Given the description of an element on the screen output the (x, y) to click on. 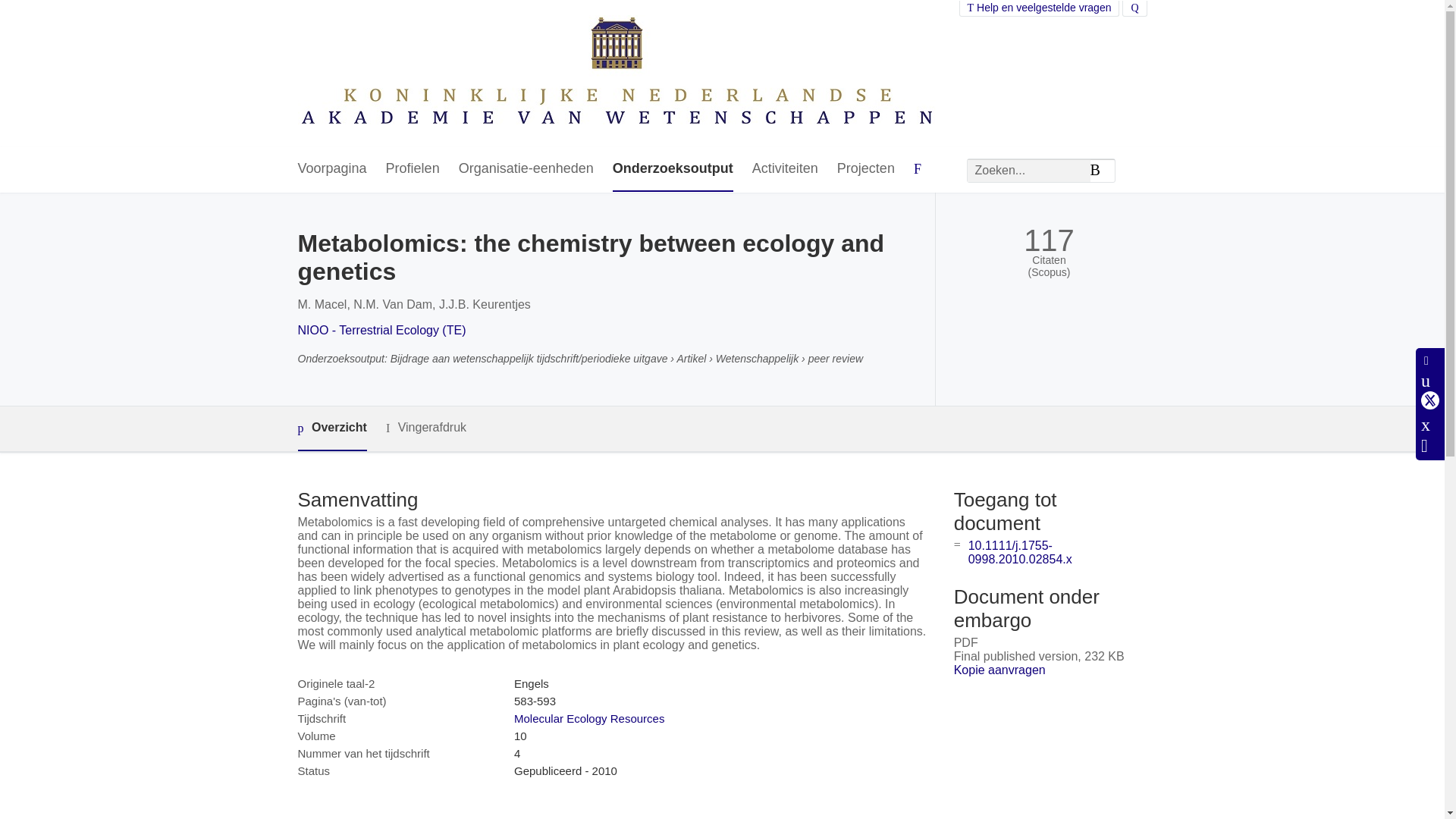
Molecular Ecology Resources (588, 717)
Vingerafdruk (425, 427)
Organisatie-eenheden (526, 169)
Profielen (412, 169)
Projecten (866, 169)
Kopie aanvragen (999, 669)
Onderzoeksoutput (672, 169)
Overzicht (331, 428)
Activiteiten (785, 169)
